Given the description of an element on the screen output the (x, y) to click on. 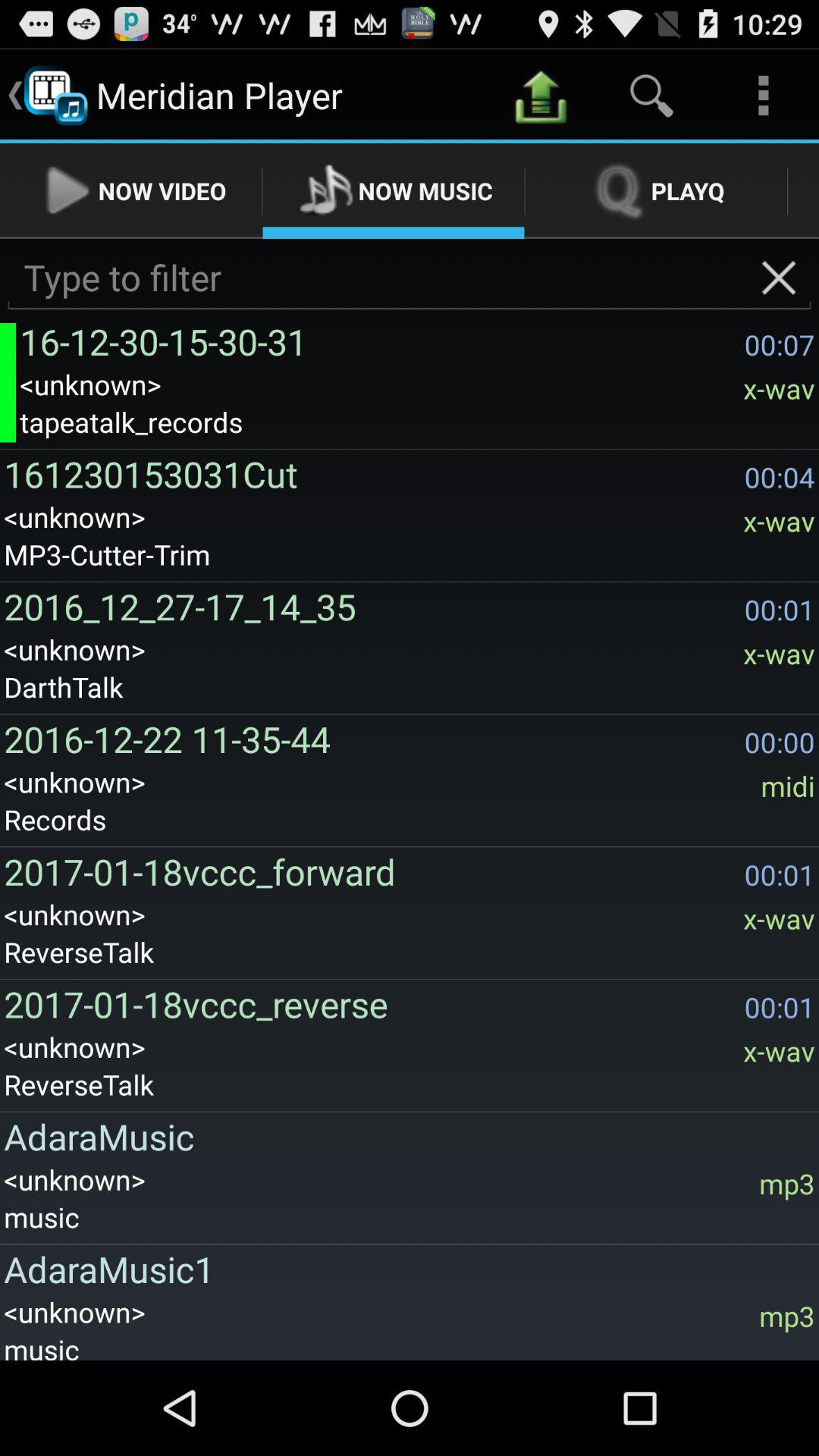
open the darthtalk app (409, 686)
